Given the description of an element on the screen output the (x, y) to click on. 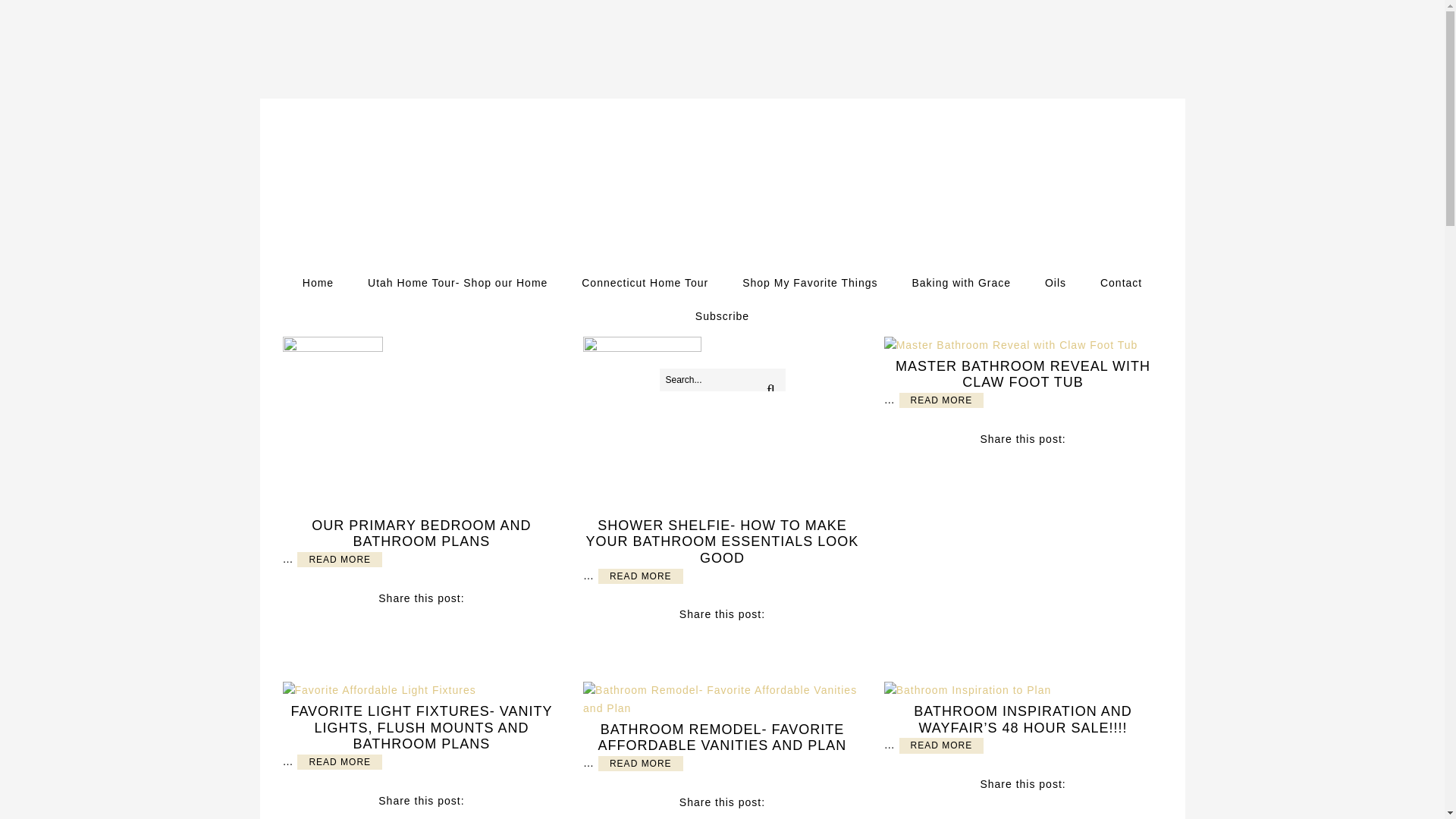
Home (317, 282)
Shop My Favorite Things (809, 282)
Utah Home Tour- Shop our Home (457, 282)
READ MORE (339, 559)
Subscribe (721, 315)
Connecticut Home Tour (644, 282)
Oils (1055, 282)
NESTING WITH GRACE (721, 193)
Contact (1120, 282)
